Given the description of an element on the screen output the (x, y) to click on. 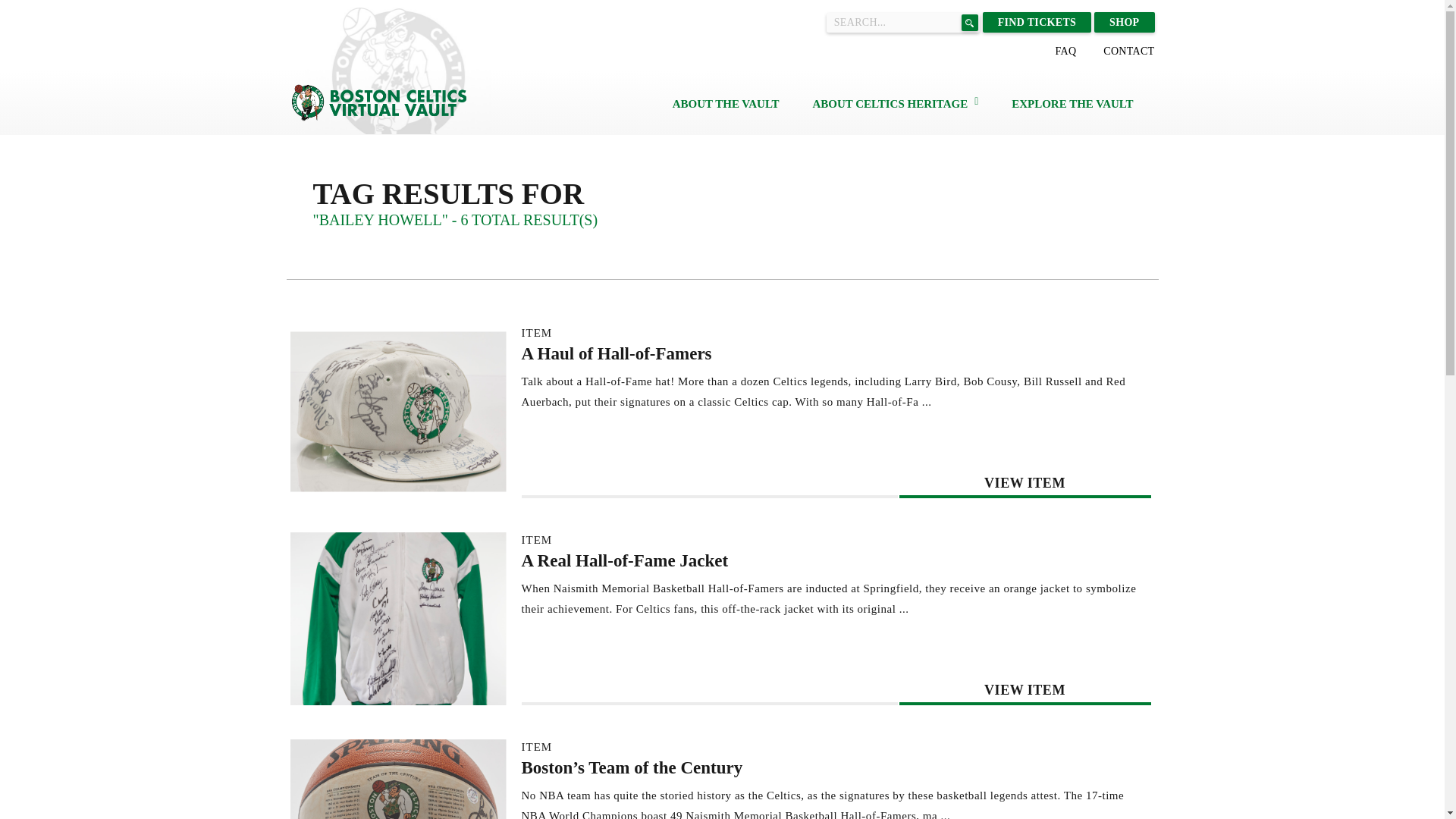
SHOP (1124, 22)
CONTACT (1128, 50)
ABOUT CELTICS HERITAGE (890, 103)
VIEW ITEM (1024, 689)
EXPLORE THE VAULT (1071, 103)
FIND TICKETS (1037, 22)
VIEW ITEM (1024, 482)
ABOUT THE VAULT (725, 103)
FAQ (1064, 50)
